Given the description of an element on the screen output the (x, y) to click on. 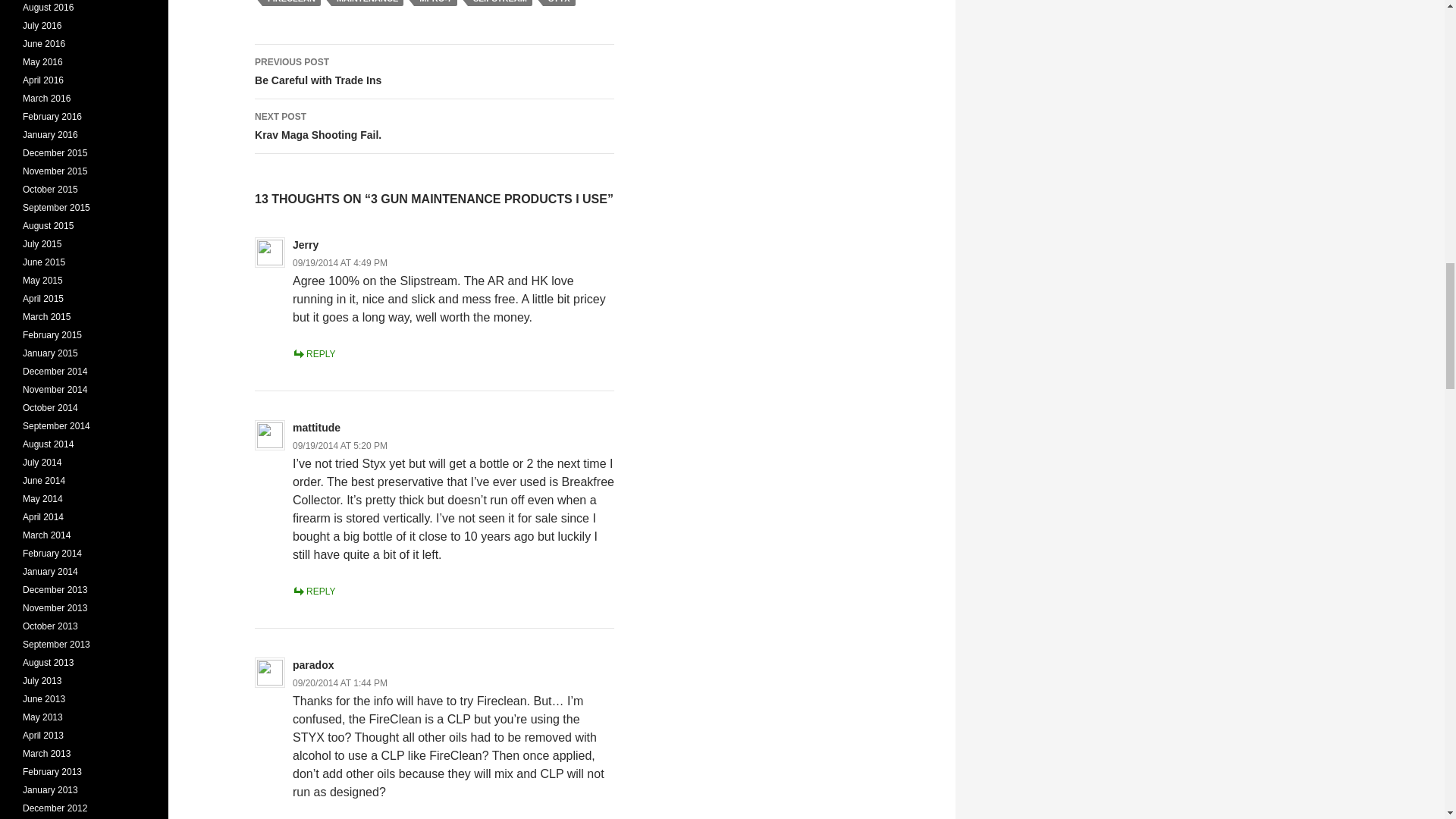
MAINTENANCE (367, 2)
REPLY (313, 591)
FIRECLEAN (291, 2)
SLIPSTREAM (499, 2)
STYX (434, 126)
MPRO-7 (559, 2)
REPLY (435, 2)
